Given the description of an element on the screen output the (x, y) to click on. 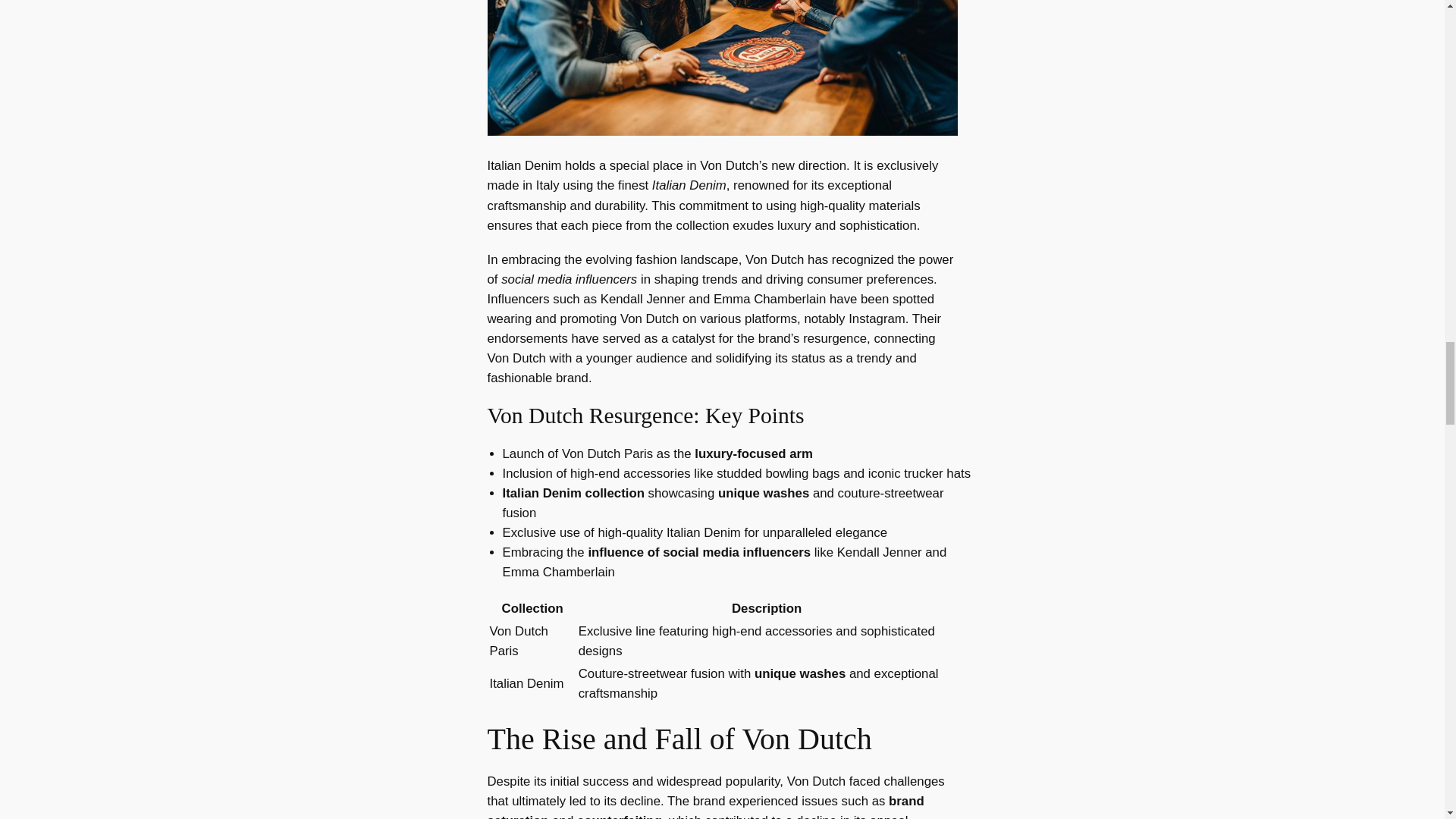
von dutch resurgence (721, 67)
